Given the description of an element on the screen output the (x, y) to click on. 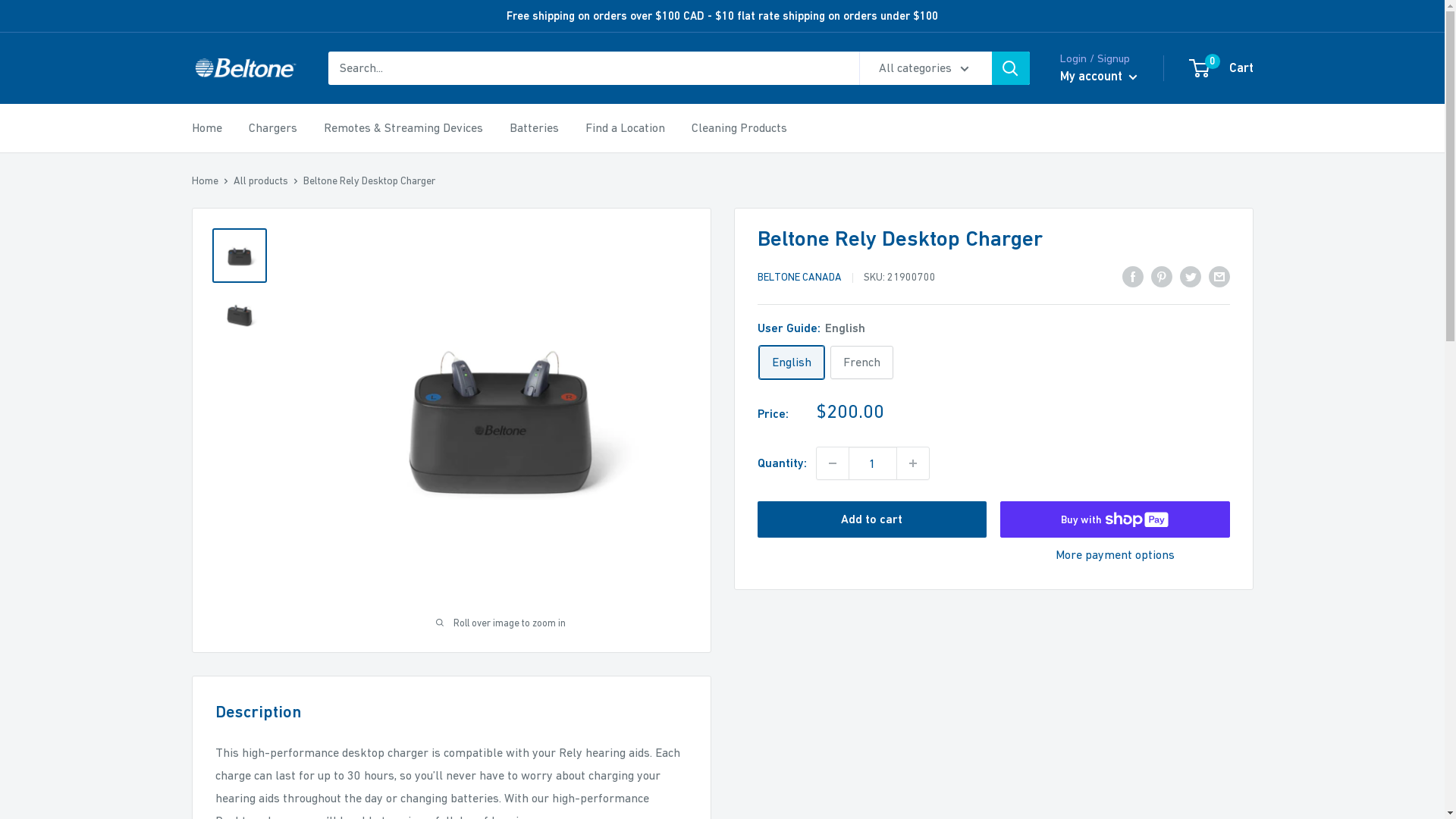
Batteries Element type: text (533, 127)
More payment options Element type: text (1115, 554)
My account Element type: text (1098, 76)
Increase quantity by 1 Element type: hover (912, 463)
Add to cart Element type: text (871, 519)
Remotes & Streaming Devices Element type: text (402, 127)
All products Element type: text (260, 180)
Home Element type: text (206, 127)
Find a Location Element type: text (625, 127)
0
Cart Element type: text (1221, 68)
Home Element type: text (204, 180)
Chargers Element type: text (272, 127)
Beltone Canada Element type: text (244, 67)
Cleaning Products Element type: text (739, 127)
BELTONE CANADA Element type: text (798, 276)
Decrease quantity by 1 Element type: hover (831, 463)
